Given the description of an element on the screen output the (x, y) to click on. 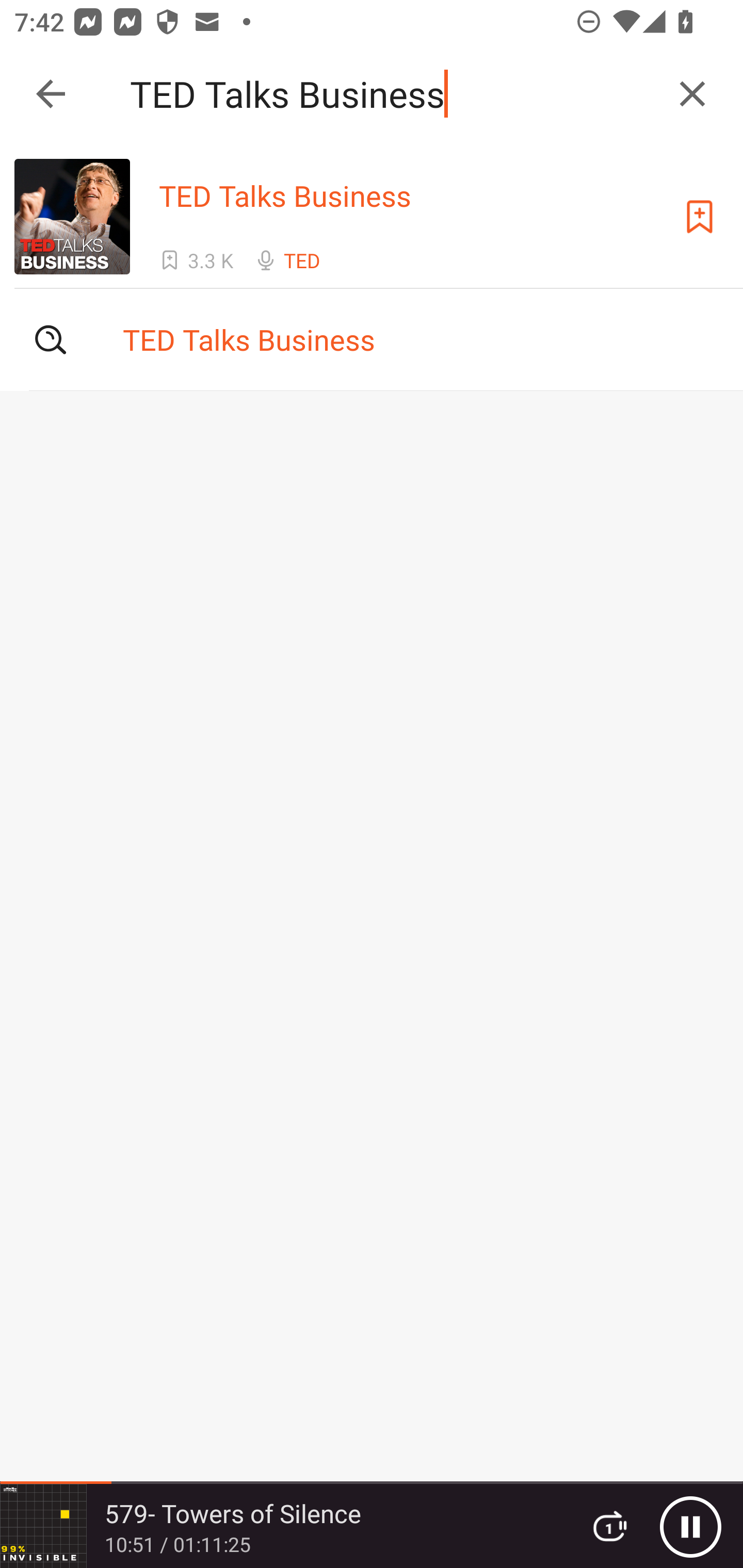
Collapse (50, 93)
Clear query (692, 93)
TED Talks Business (393, 94)
Subscribe (699, 216)
 TED Talks Business (371, 339)
579- Towers of Silence 10:51 / 01:11:25 (283, 1525)
Pause (690, 1526)
